Given the description of an element on the screen output the (x, y) to click on. 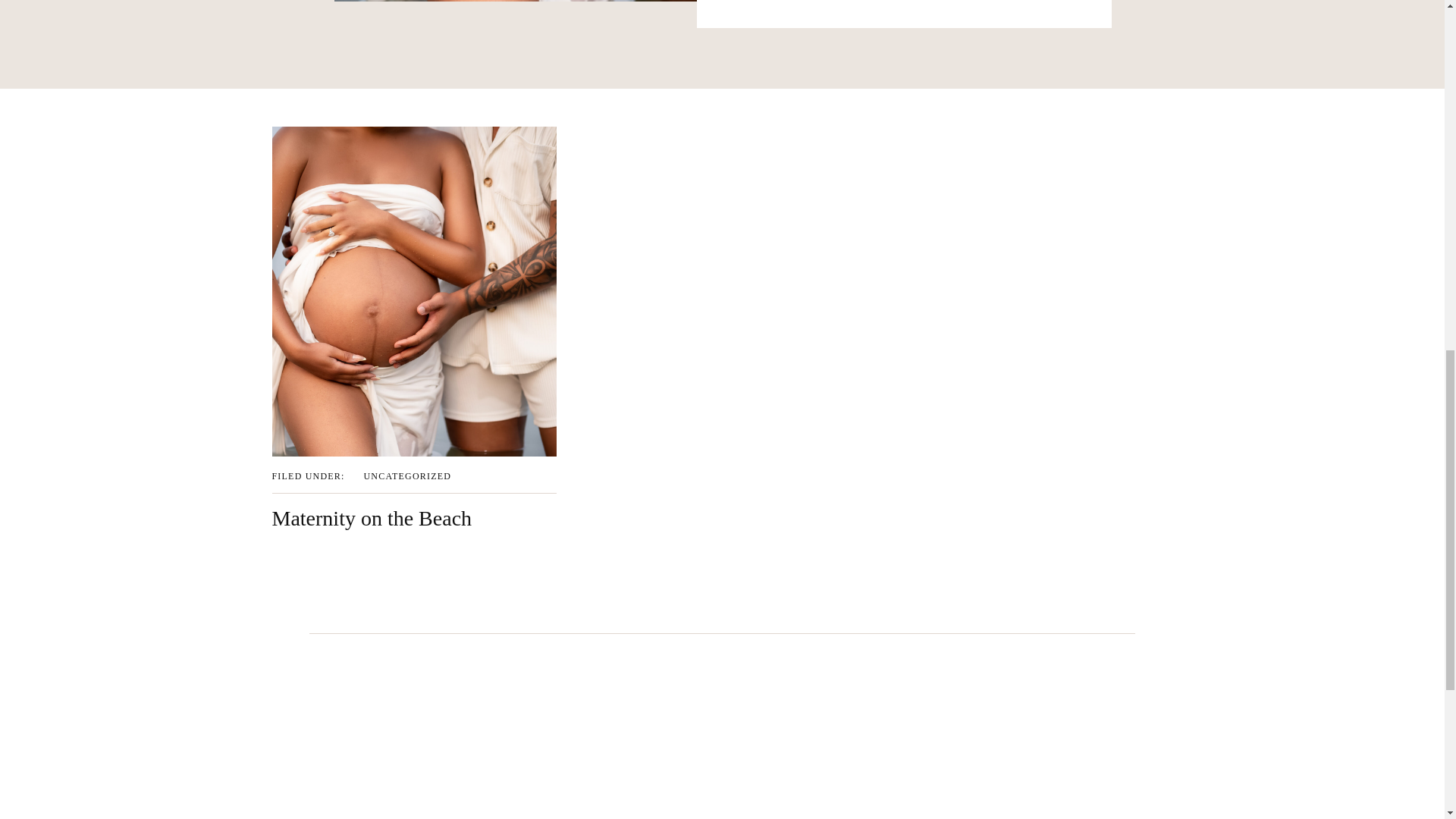
Maternity on the Beach (413, 291)
UNCATEGORIZED (407, 475)
Maternity on the Beach (370, 517)
